Given the description of an element on the screen output the (x, y) to click on. 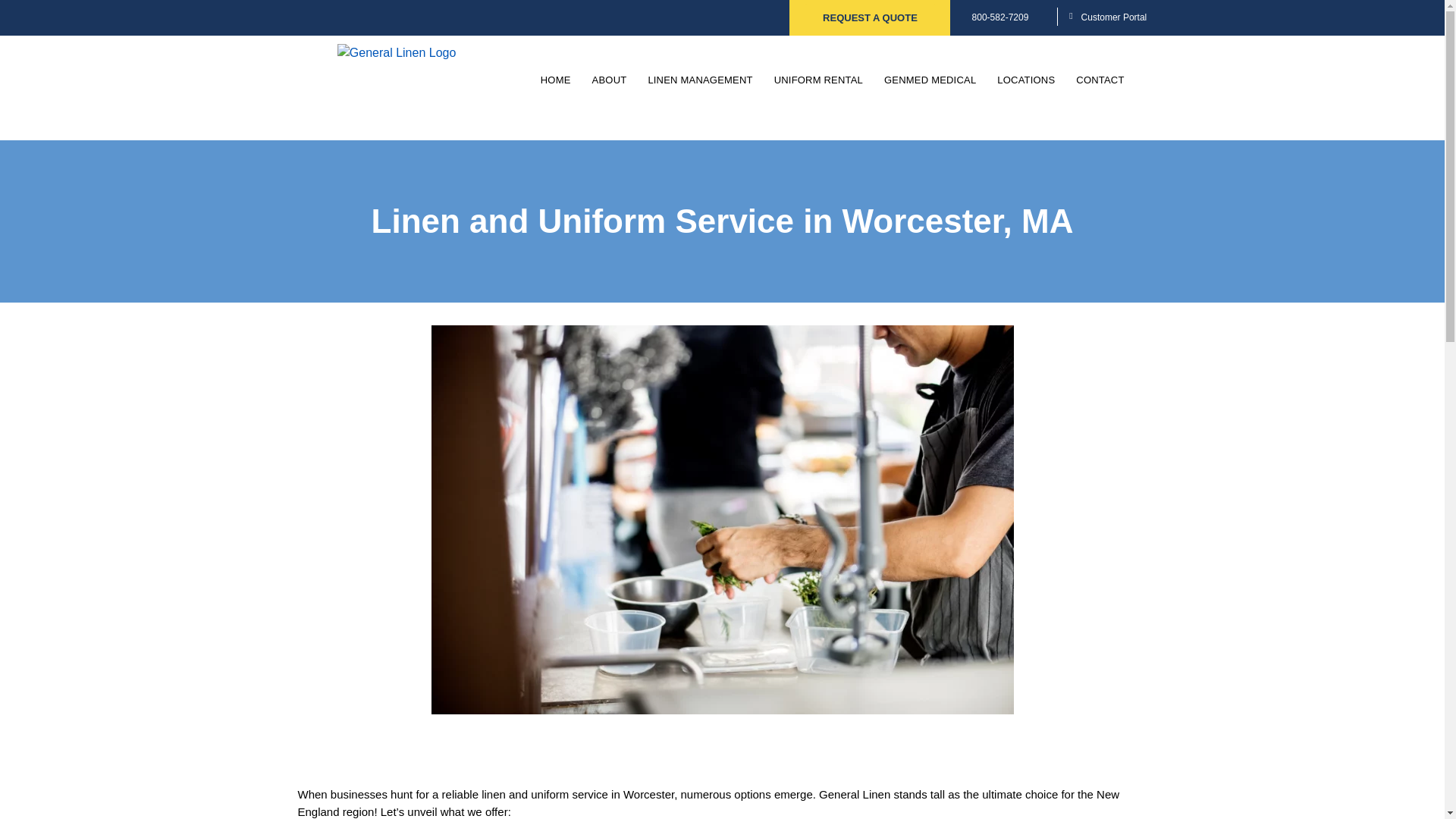
LOCATIONS (1026, 80)
CONTACT (1099, 80)
UNIFORM RENTAL (817, 80)
LINEN MANAGEMENT (699, 80)
GENMED MEDICAL (930, 80)
Customer Portal (1114, 17)
REQUEST A QUOTE (870, 17)
800-582-7209 (1000, 17)
